Given the description of an element on the screen output the (x, y) to click on. 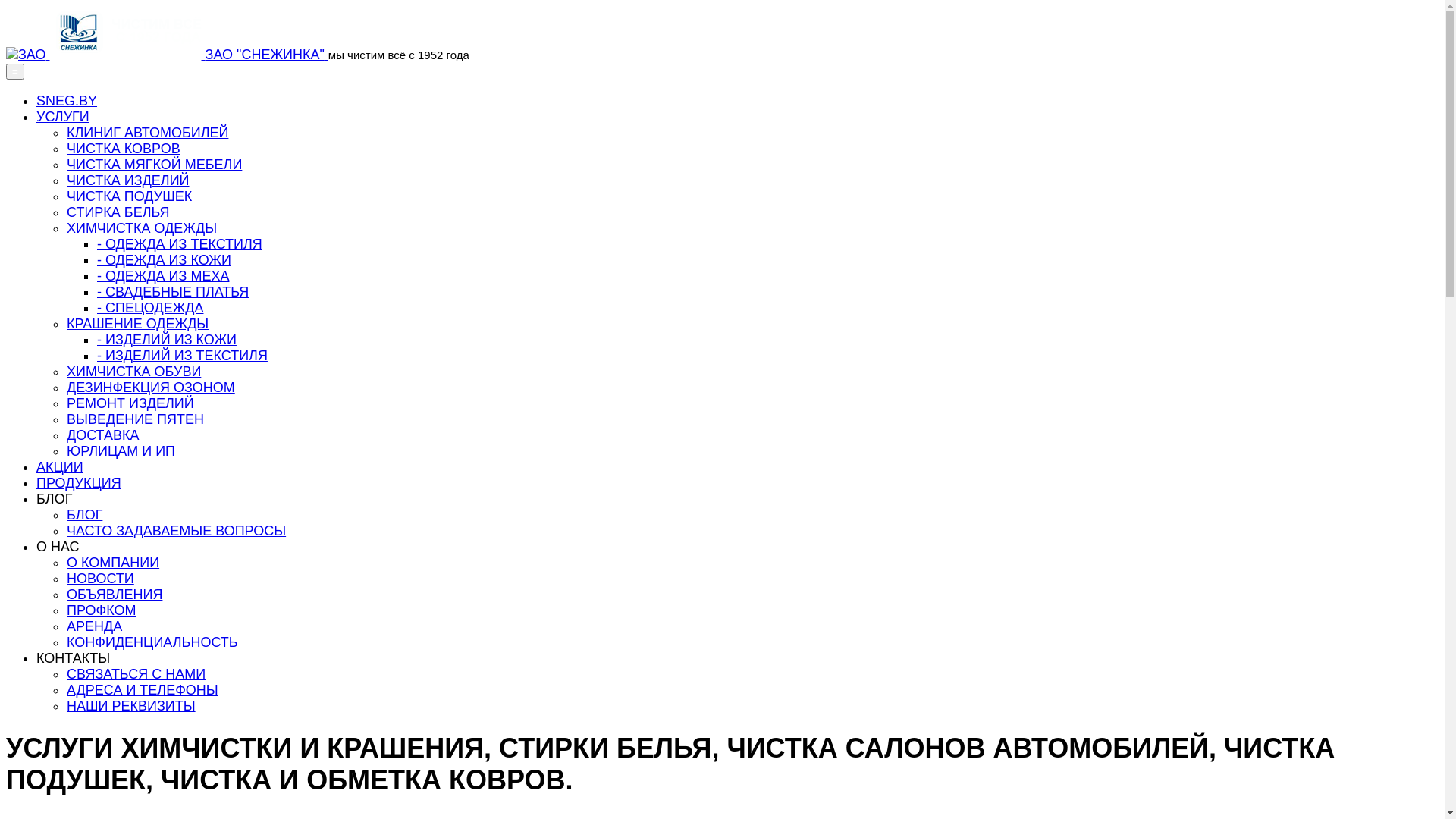
= Element type: text (15, 71)
SNEG.BY Element type: text (66, 100)
